Given the description of an element on the screen output the (x, y) to click on. 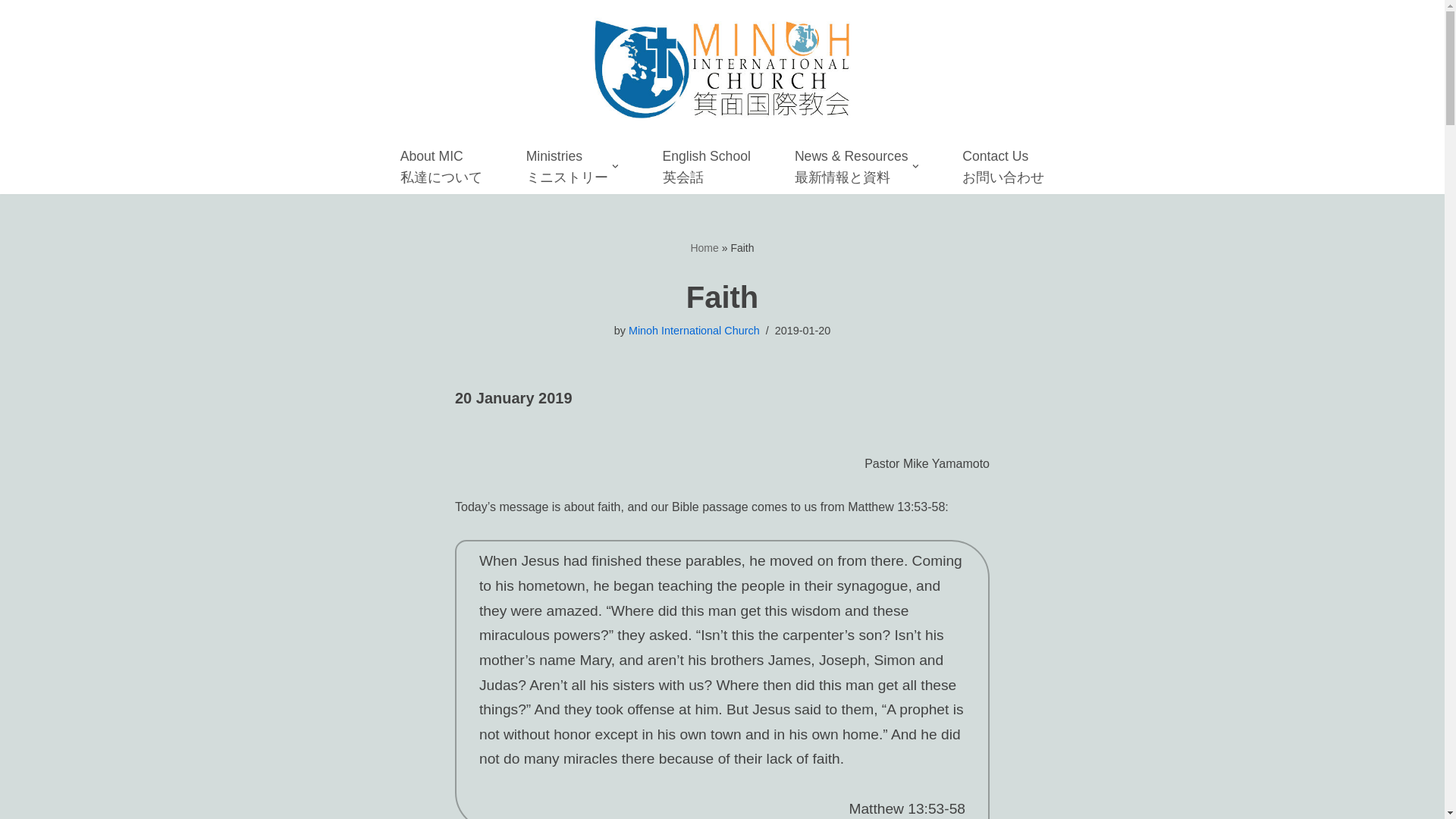
Skip to content (11, 31)
Posts by Minoh International Church (694, 330)
